Given the description of an element on the screen output the (x, y) to click on. 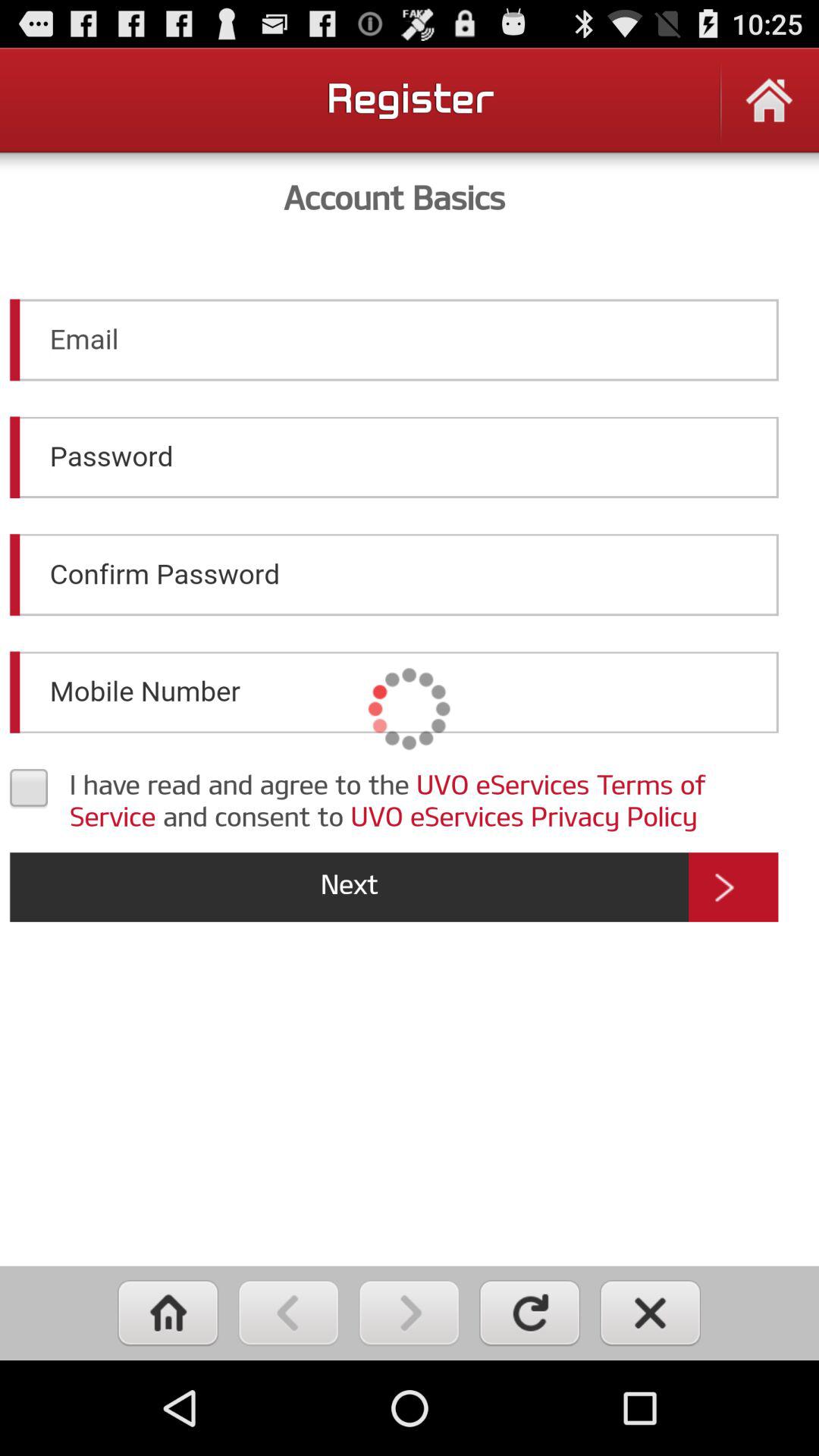
refresh (529, 1313)
